Given the description of an element on the screen output the (x, y) to click on. 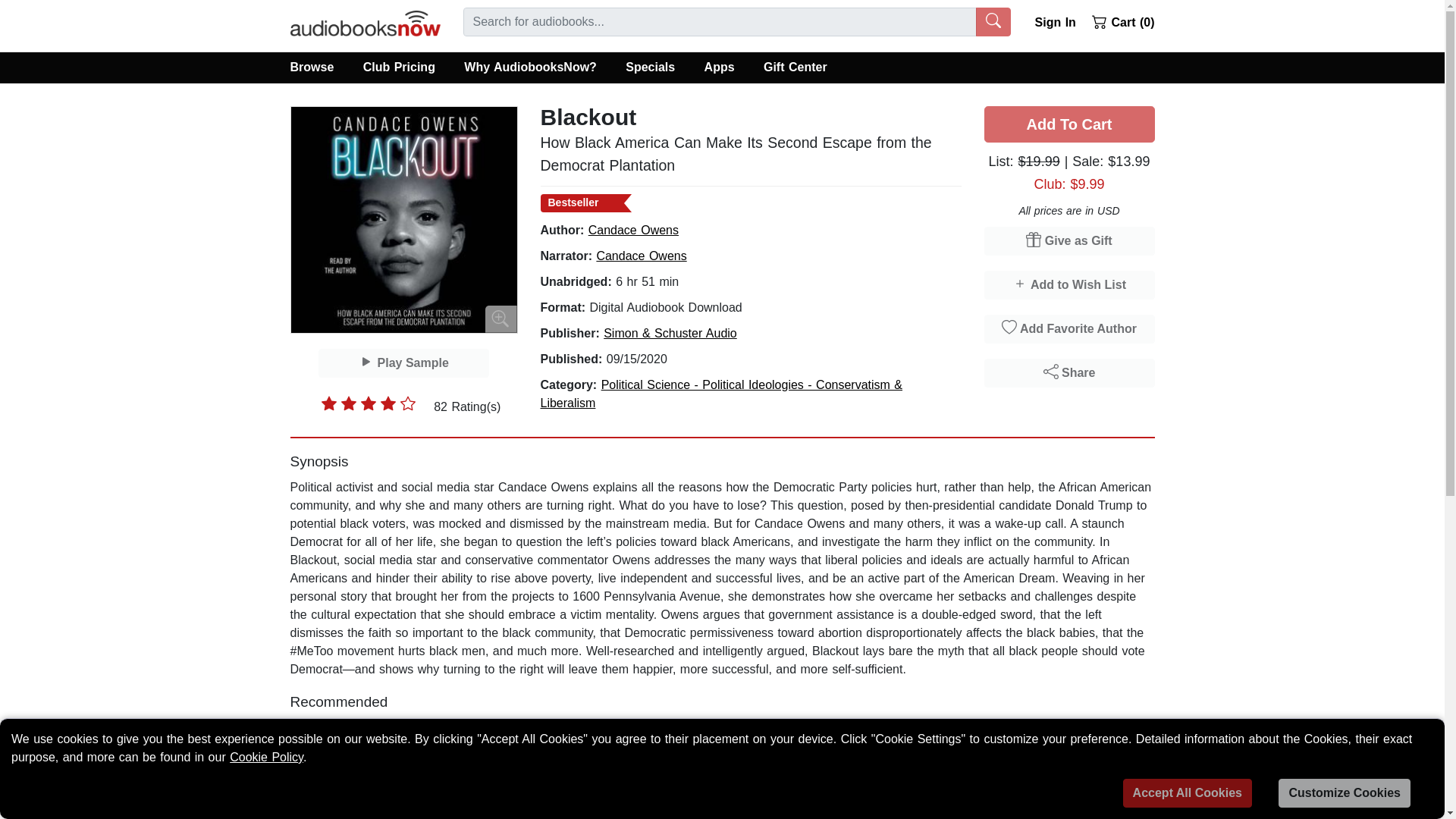
Add To Cart (1069, 124)
Gift Center (795, 66)
Apps (718, 66)
Browse (318, 66)
Add Favorite Author (1069, 328)
Add to Wish List (1069, 285)
Share (1069, 372)
Club Pricing (398, 66)
Candace Owens (633, 229)
Why AudiobooksNow? (530, 66)
Play Sample (403, 362)
Sign In (1050, 19)
Specials (649, 66)
Give as Gift (1069, 240)
Candace Owens (640, 255)
